Given the description of an element on the screen output the (x, y) to click on. 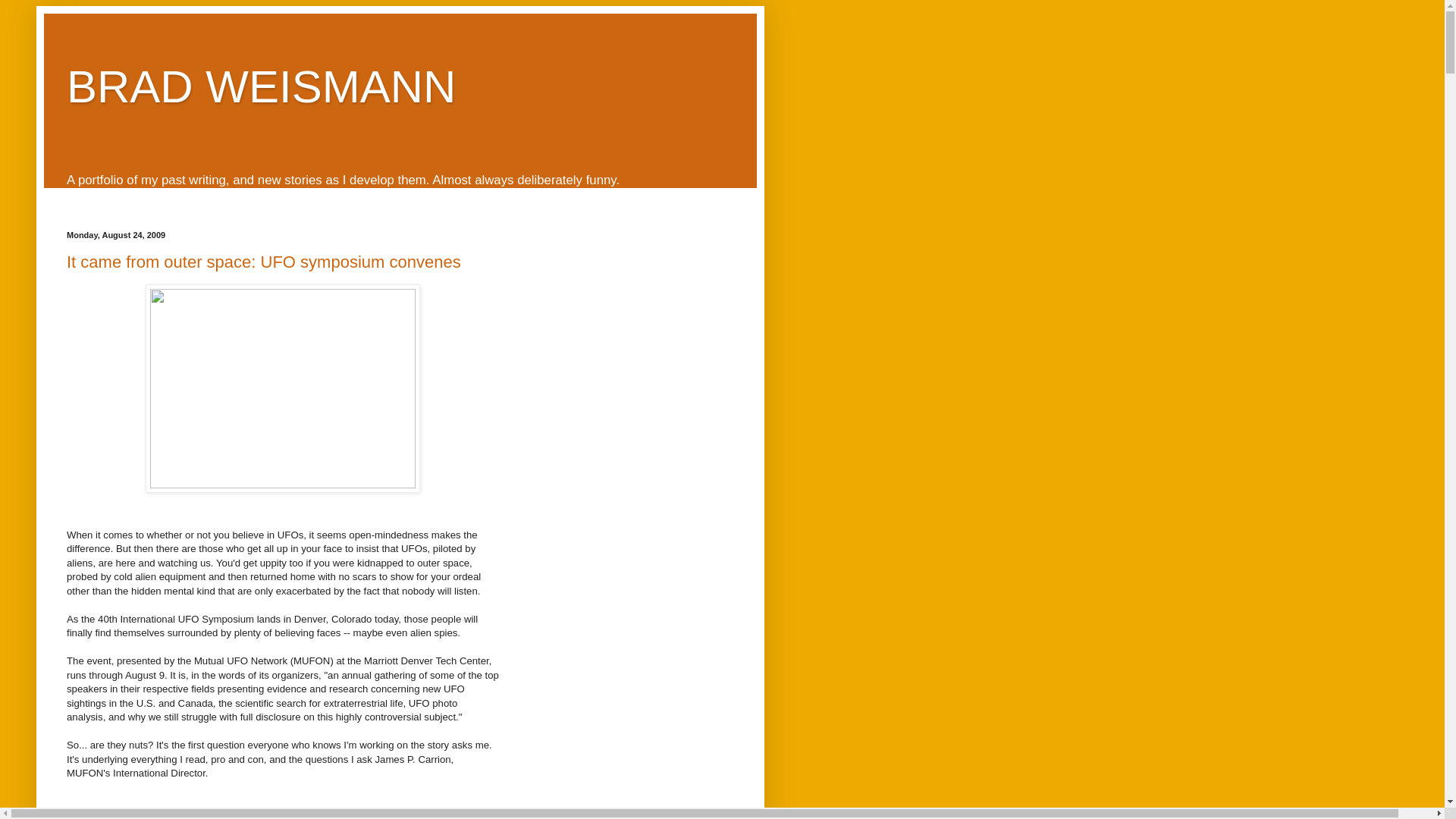
BRAD WEISMANN (260, 86)
Advertisement (282, 799)
It came from outer space: UFO symposium convenes (263, 261)
